Given the description of an element on the screen output the (x, y) to click on. 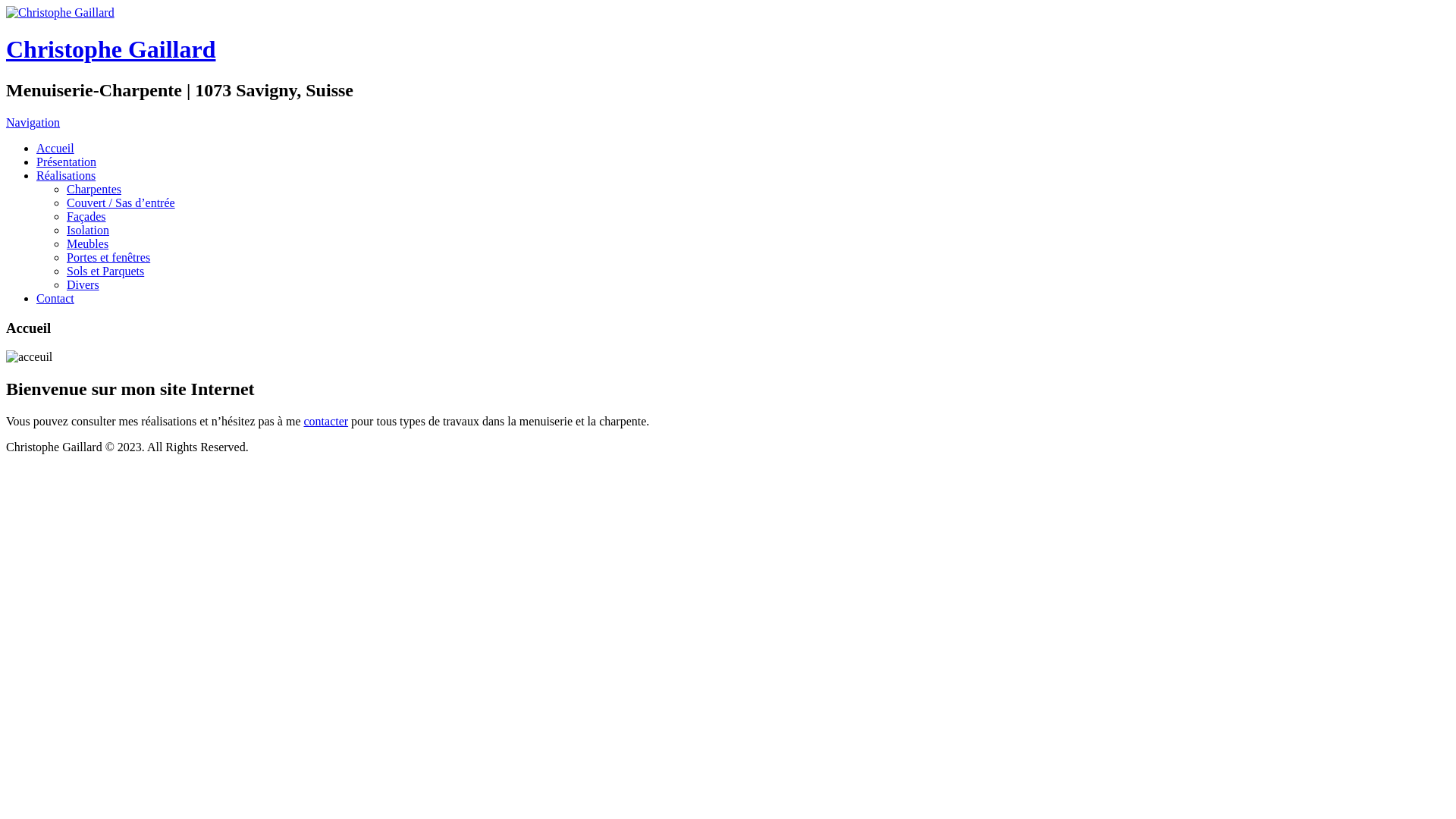
Isolation Element type: text (87, 229)
Sols et Parquets Element type: text (105, 270)
Accueil Element type: text (55, 147)
Charpentes Element type: text (93, 188)
Navigation Element type: text (32, 122)
contacter Element type: text (325, 420)
Meubles Element type: text (87, 243)
Menuiserie-Charpente | 1073 Savigny, Suisse Element type: hover (60, 12)
Divers Element type: text (82, 284)
Christophe Gaillard Element type: text (110, 48)
Contact Element type: text (55, 297)
